Given the description of an element on the screen output the (x, y) to click on. 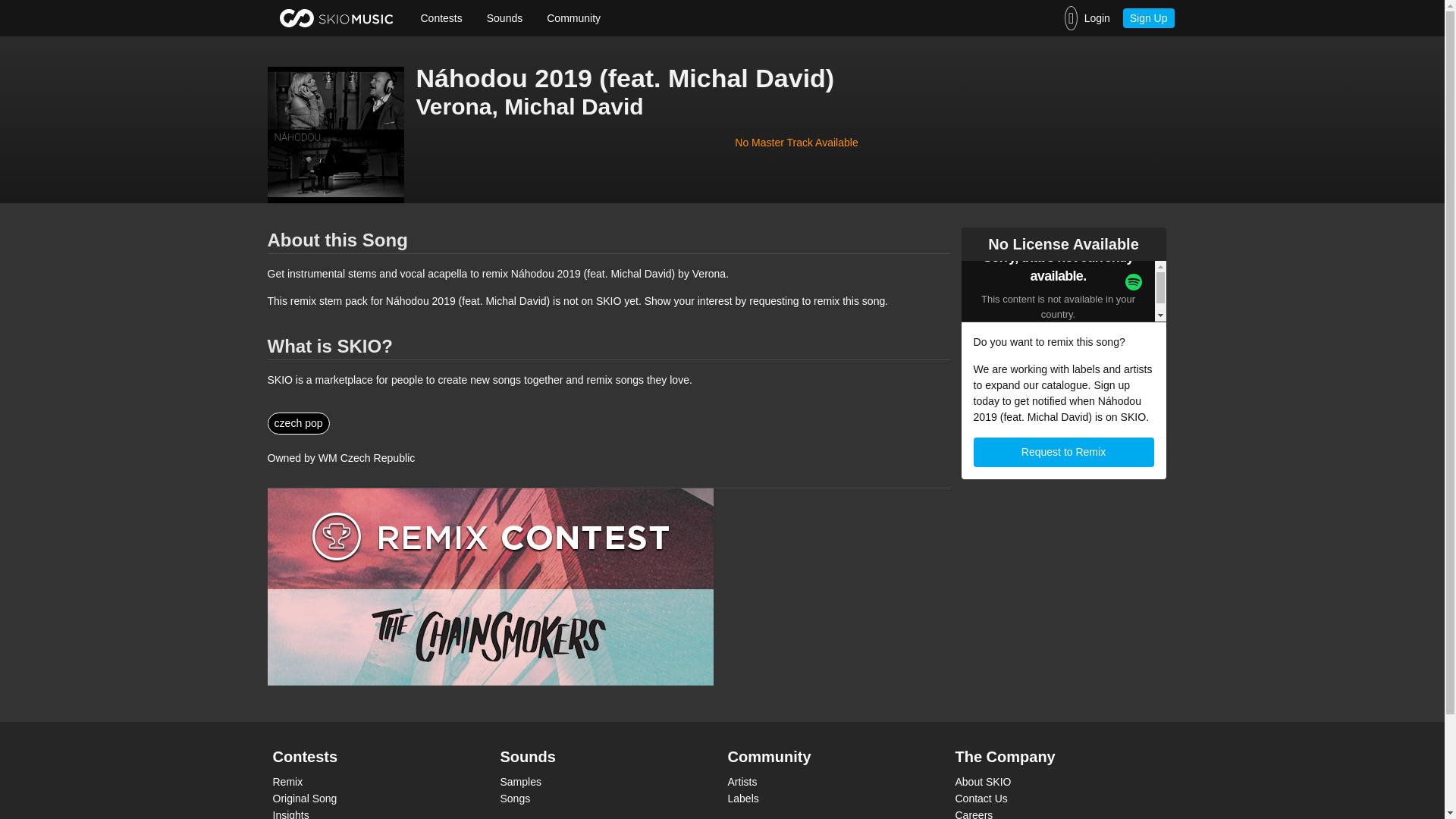
Request to Remix (1064, 452)
Sounds (504, 18)
Remix (375, 781)
czech pop (297, 423)
Community (573, 18)
Sign Up (1148, 17)
Contests (440, 18)
Original Song (375, 798)
Login (1086, 17)
